Given the description of an element on the screen output the (x, y) to click on. 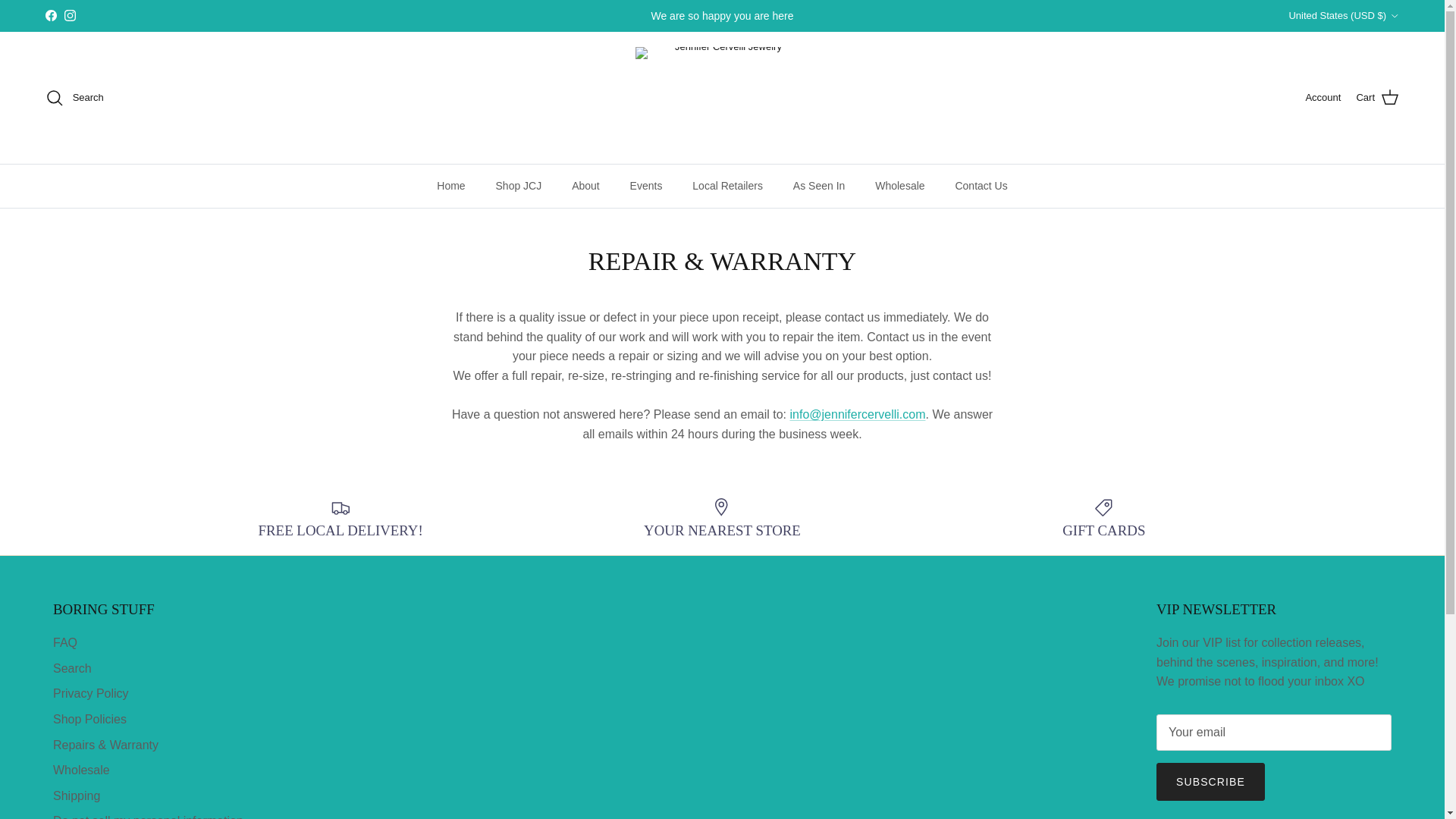
Search (74, 97)
Jennifer Cervelli Jewelry on Instagram (69, 15)
Account (1322, 98)
Jennifer Cervelli Jewelry (721, 97)
Instagram (69, 15)
About (584, 186)
Home (451, 186)
Cart (1377, 97)
Shop JCJ (518, 186)
Facebook (50, 15)
